Given the description of an element on the screen output the (x, y) to click on. 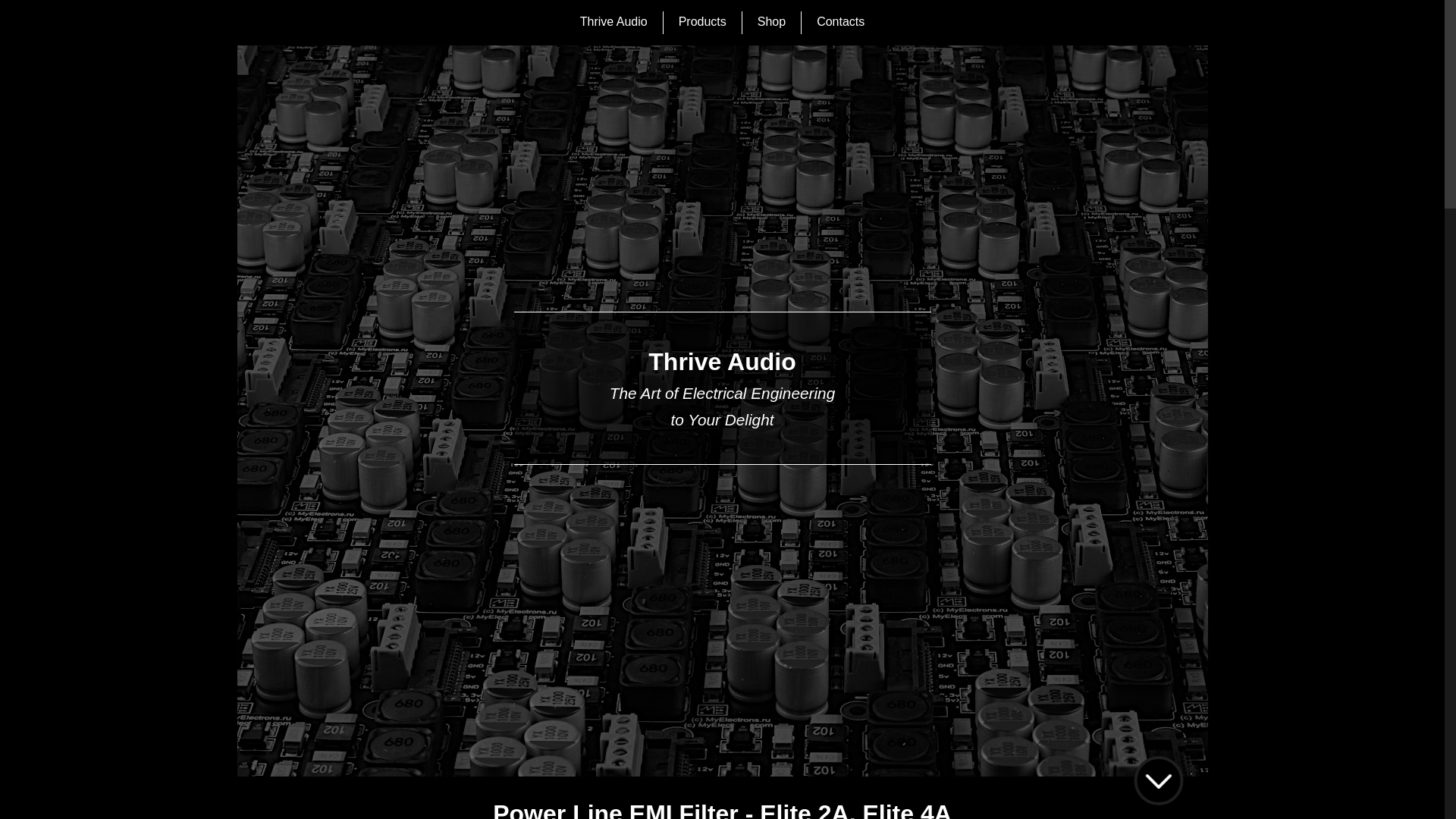
Contacts Element type: text (840, 22)
Thrive Audio Element type: text (613, 22)
Products Element type: text (702, 22)
Shop Element type: text (771, 22)
